Given the description of an element on the screen output the (x, y) to click on. 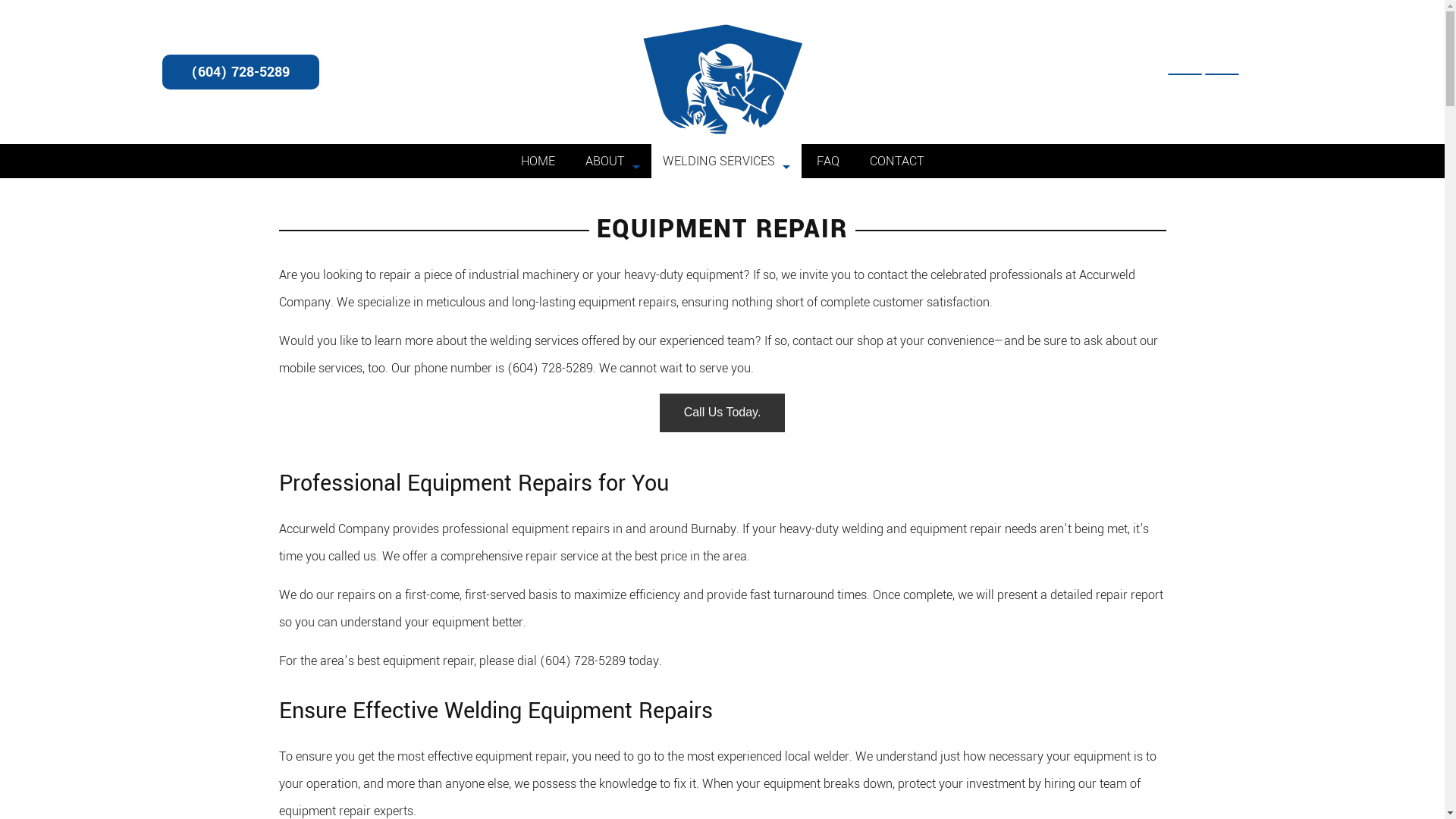
metal installation Element type: text (725, 223)
pipe welding Element type: text (725, 314)
FAQ Element type: text (826, 161)
HOME Element type: text (537, 161)
service areas Element type: text (610, 193)
mobile welding Element type: text (725, 193)
CONTACT Element type: text (895, 161)
Google Maps Element type: hover (1221, 74)
ABOUT Element type: text (610, 161)
custom metal fabrication Element type: text (725, 253)
WELDING SERVICES Element type: text (725, 161)
equipment repair Element type: text (725, 284)
Our Facebook Page Element type: hover (1184, 74)
Call Us Today. Element type: text (722, 412)
(604) 728-5289 Element type: text (240, 71)
